Given the description of an element on the screen output the (x, y) to click on. 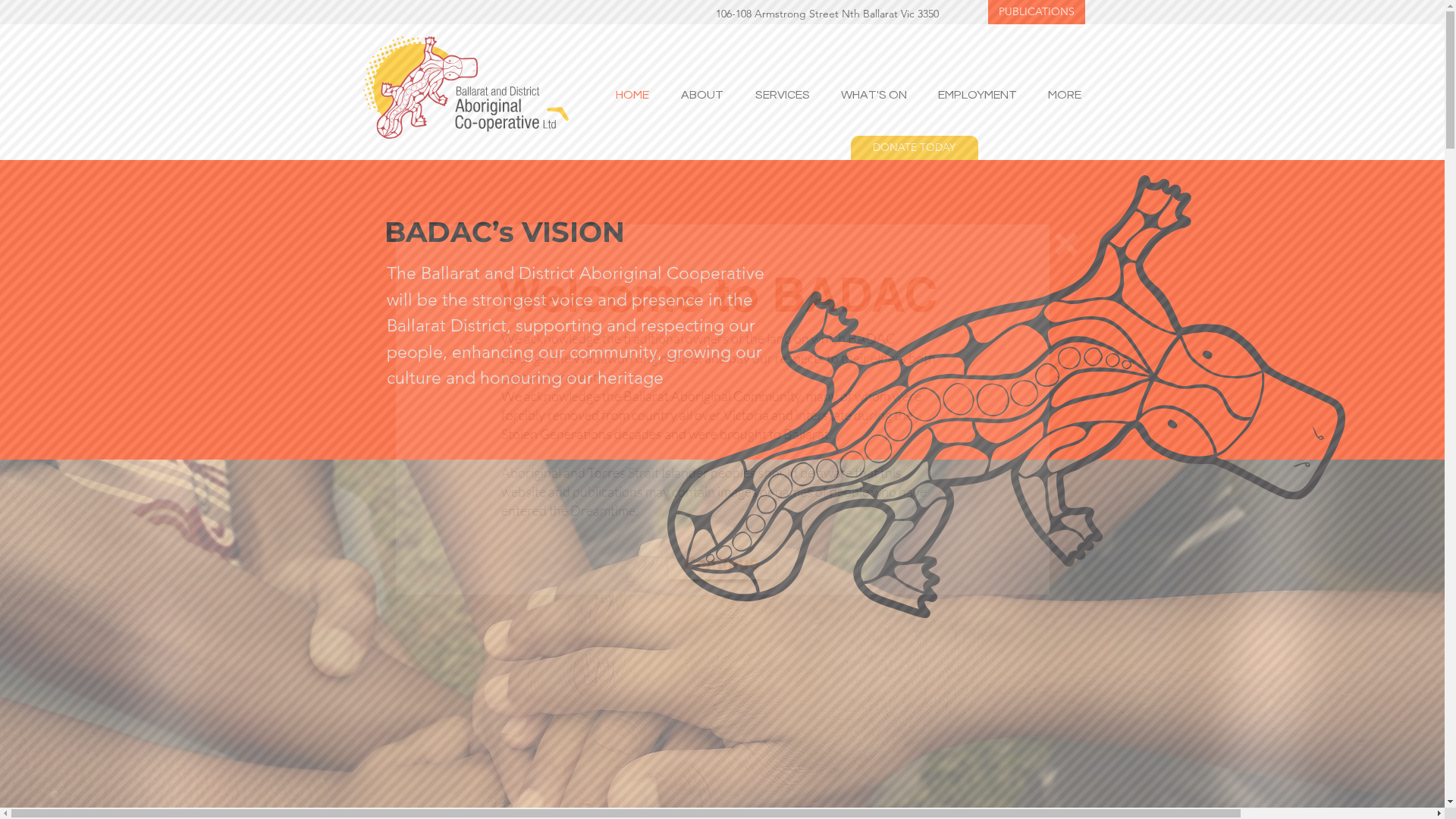
Back to site Element type: hover (1065, 243)
ABOUT Element type: text (696, 94)
MORE Element type: text (1060, 94)
HOME Element type: text (626, 94)
SERVICES Element type: text (777, 94)
PUBLICATIONS Element type: text (1035, 12)
DONATE TODAY Element type: text (914, 147)
WHAT'S ON Element type: text (868, 94)
EMPLOYMENT Element type: text (972, 94)
